Given the description of an element on the screen output the (x, y) to click on. 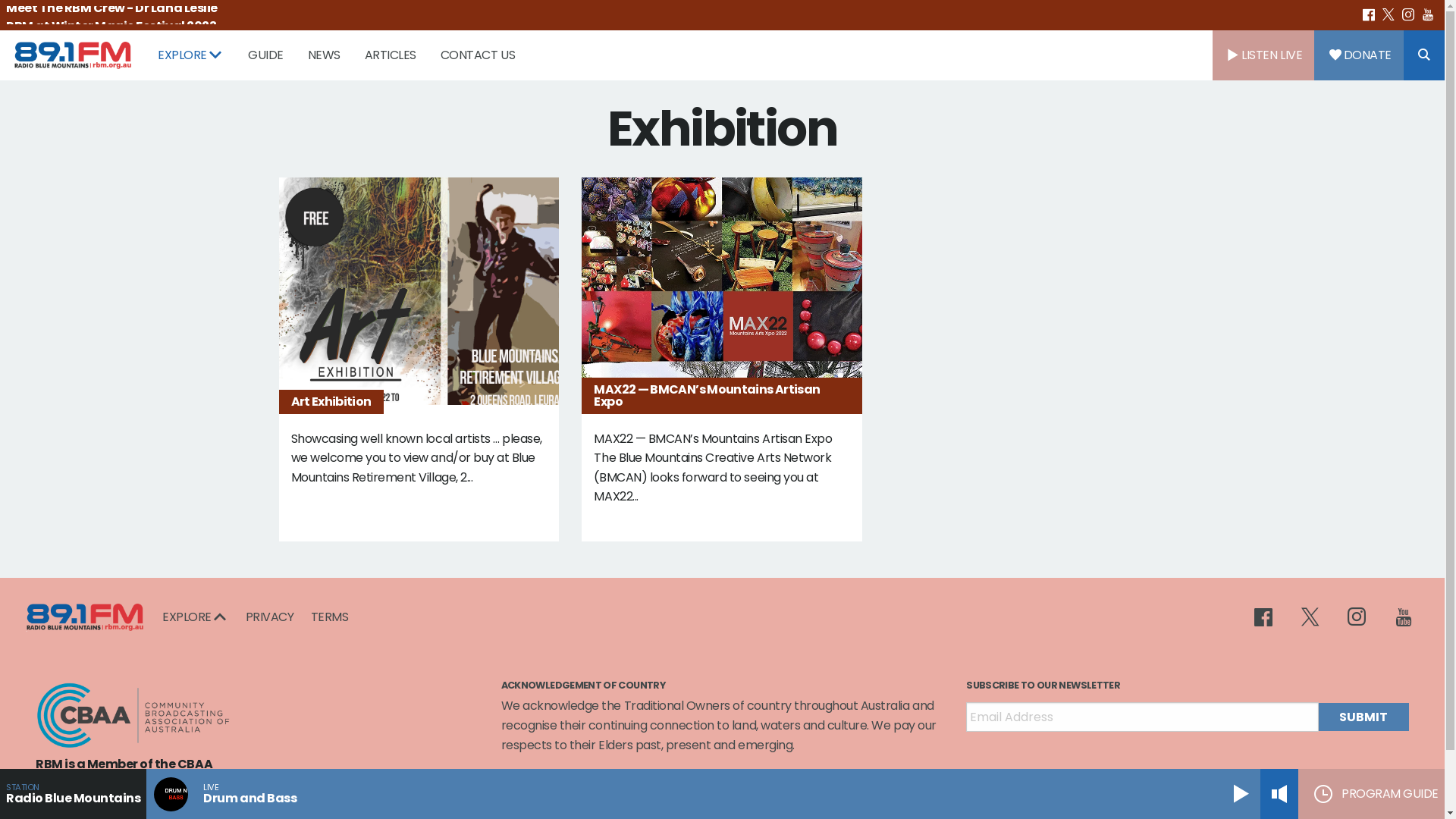
Upcoming Special Interviews on RBM Element type: text (118, 16)
EXPLORE Element type: text (194, 617)
LISTEN LIVE Element type: text (1263, 55)
  Element type: text (1358, 616)
TERMS Element type: text (325, 617)
  Element type: text (1428, 14)
  Element type: text (1401, 616)
Submit Element type: text (1363, 716)
  Element type: text (1269, 616)
CONTACT US Element type: text (477, 55)
GUIDE Element type: text (265, 55)
  Element type: text (1408, 14)
EXPLORE Element type: text (190, 55)
ARTICLES Element type: text (390, 55)
NEWS Element type: text (323, 55)
DONATE Element type: text (1358, 55)
  Element type: text (1389, 14)
PRIVACY Element type: text (269, 617)
  Element type: text (1312, 616)
  Element type: text (1369, 14)
